Given the description of an element on the screen output the (x, y) to click on. 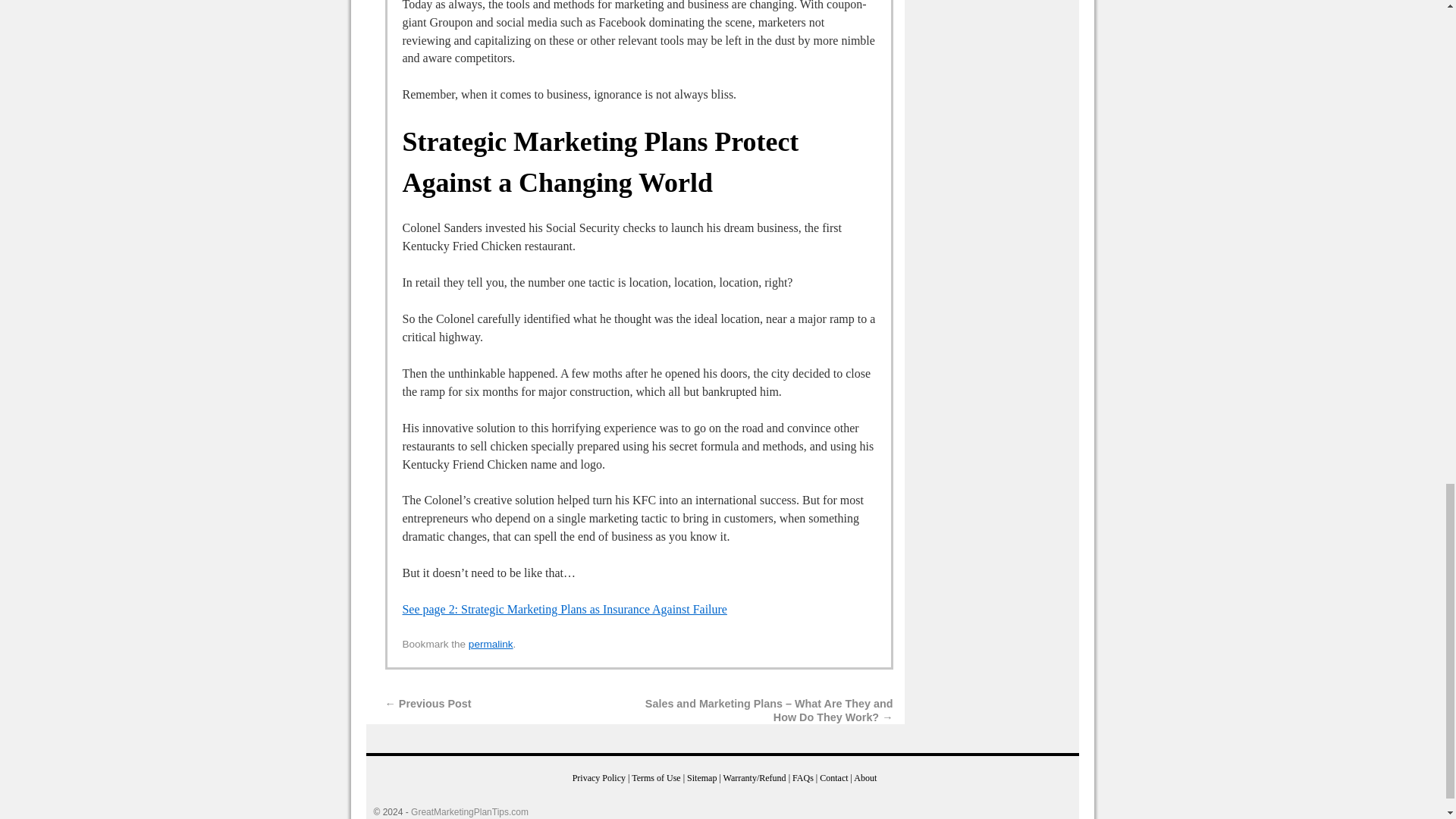
GreatMarketingPlanTips.com (469, 811)
permalink (490, 644)
Permalink to Strategic Marketing Plans (490, 644)
